Given the description of an element on the screen output the (x, y) to click on. 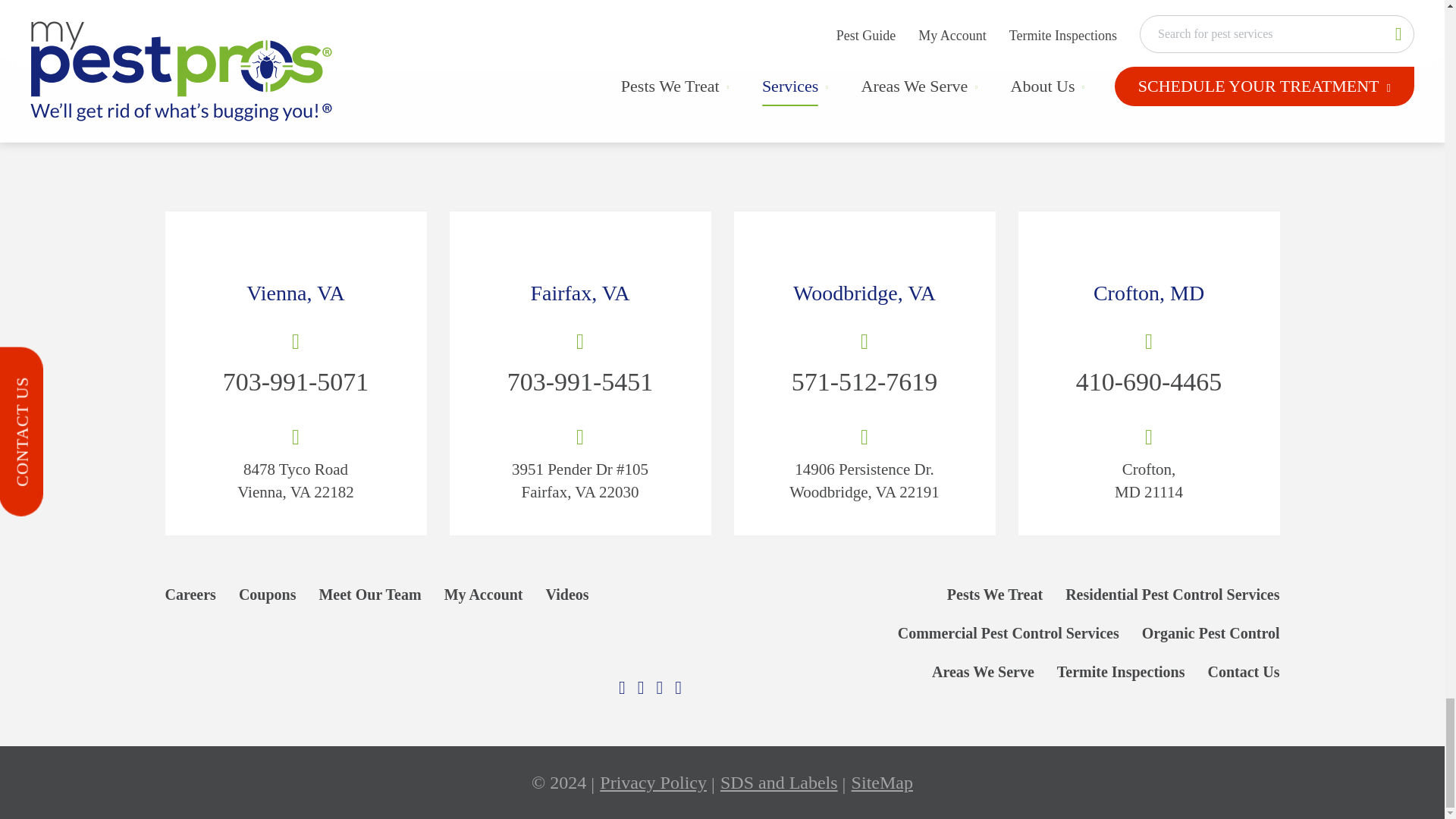
Locations (580, 251)
Locations (864, 251)
Locations (296, 251)
